Given the description of an element on the screen output the (x, y) to click on. 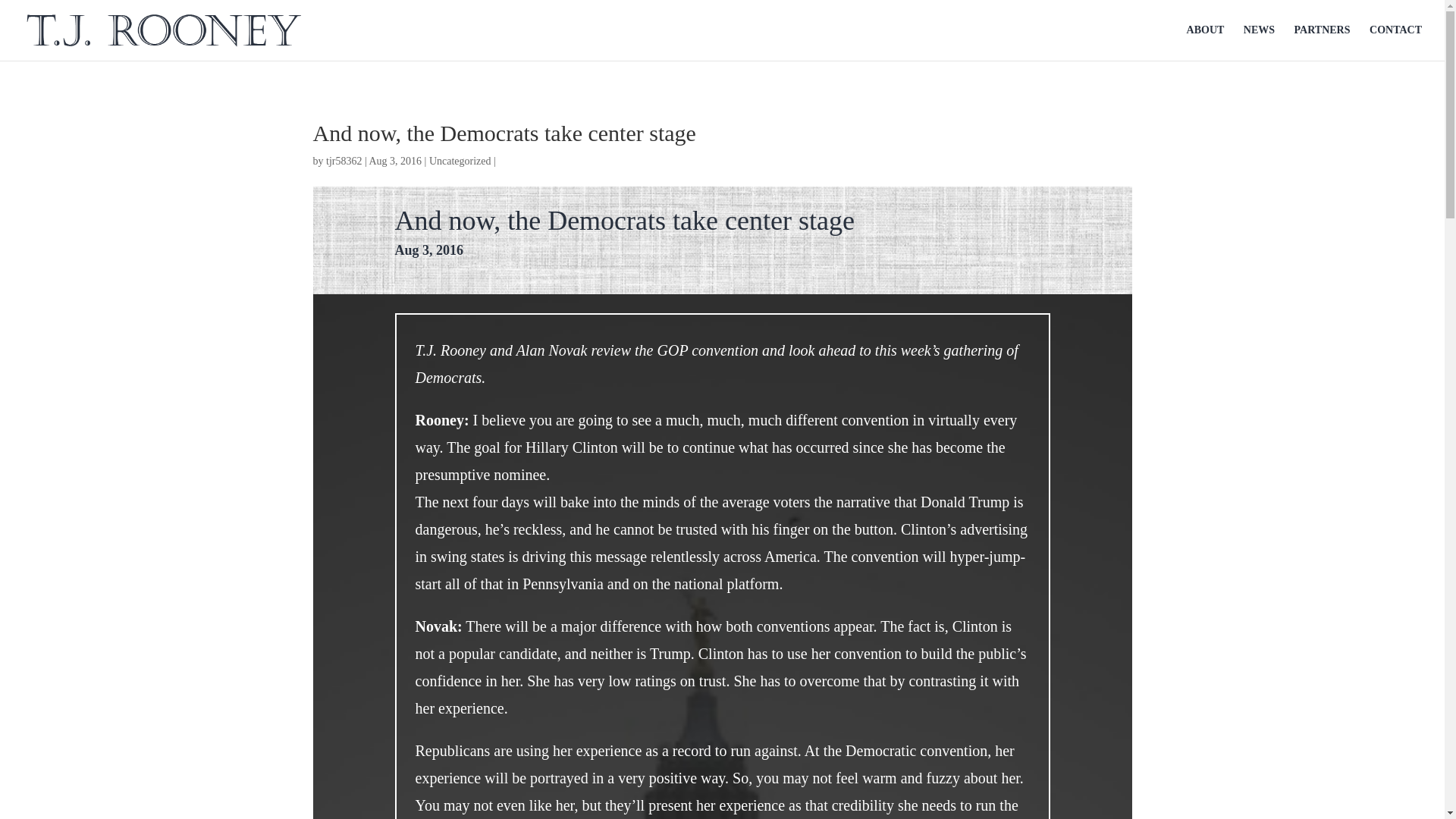
NEWS (1259, 42)
Posts by tjr58362 (343, 161)
ABOUT (1205, 42)
Uncategorized (460, 161)
tjr58362 (343, 161)
CONTACT (1396, 42)
PARTNERS (1322, 42)
